Given the description of an element on the screen output the (x, y) to click on. 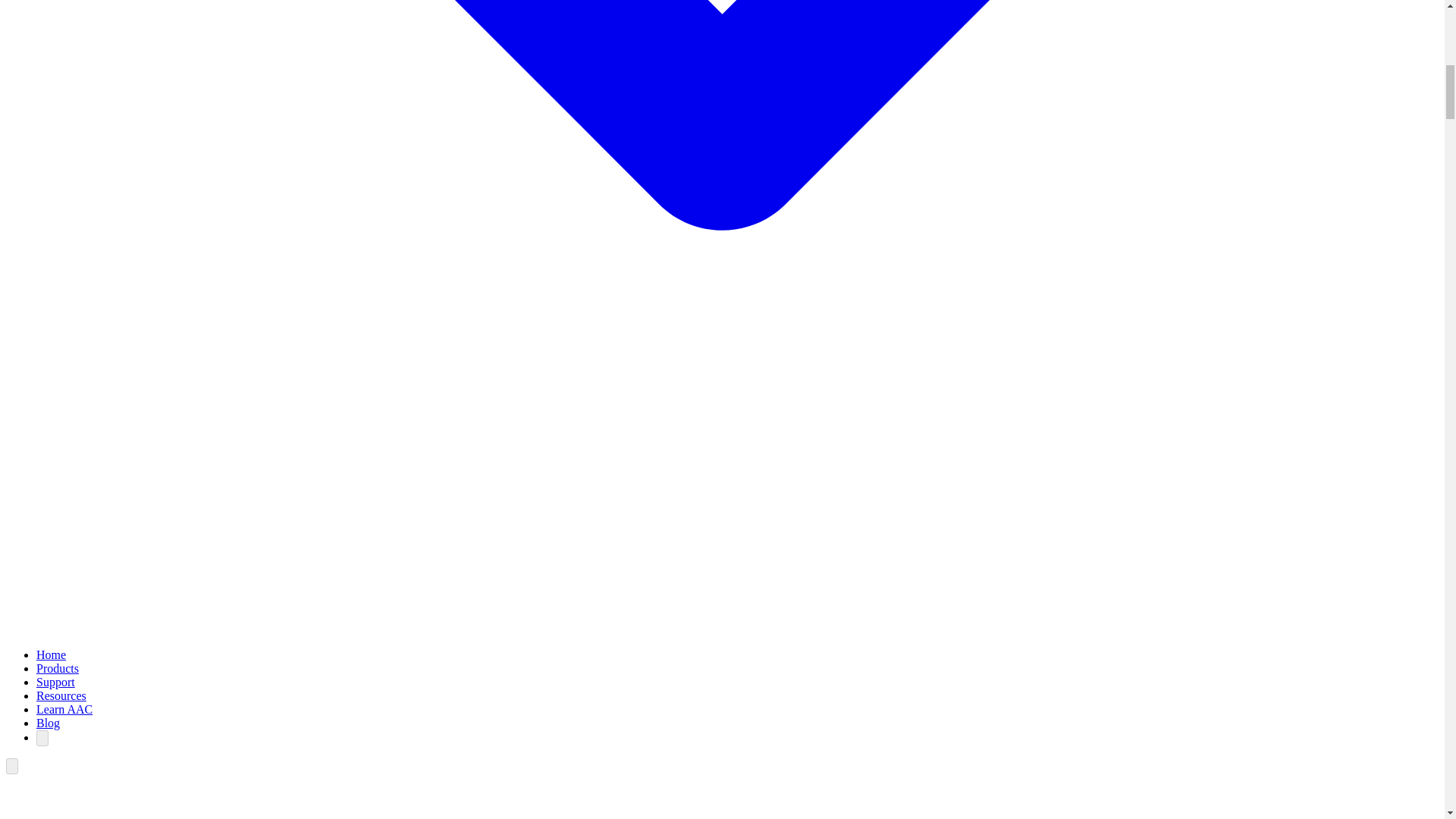
Blog (47, 722)
Home (50, 654)
Support (55, 681)
Resources (60, 695)
Products (57, 667)
Learn AAC (64, 708)
